Given the description of an element on the screen output the (x, y) to click on. 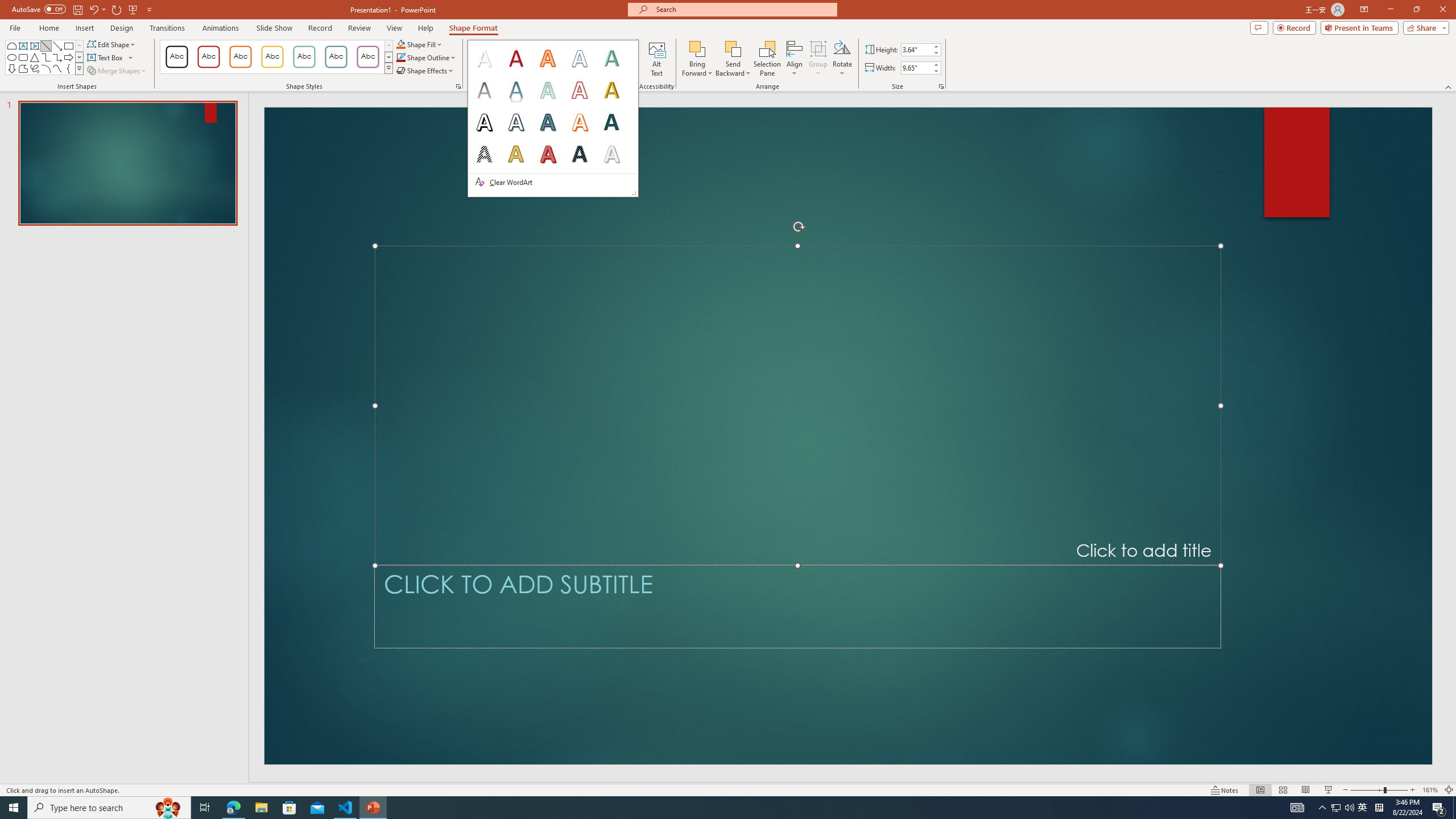
Shape Effects (425, 69)
Shape Width (915, 67)
Merge Shapes (117, 69)
